Given the description of an element on the screen output the (x, y) to click on. 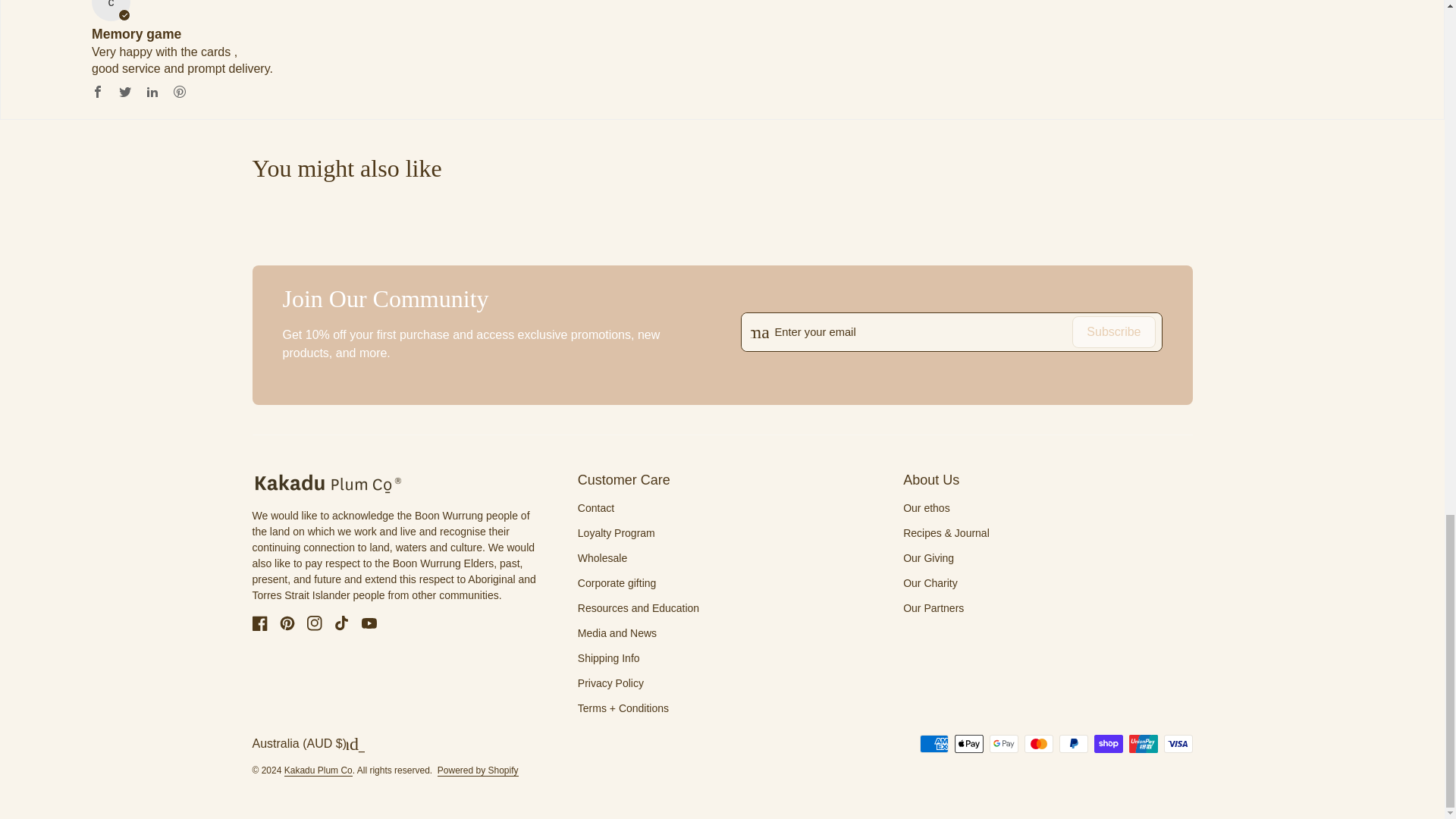
Pinterest (179, 91)
LinkedIn (151, 91)
Facebook (97, 91)
Twitter (124, 91)
Subscribe (1112, 332)
